Given the description of an element on the screen output the (x, y) to click on. 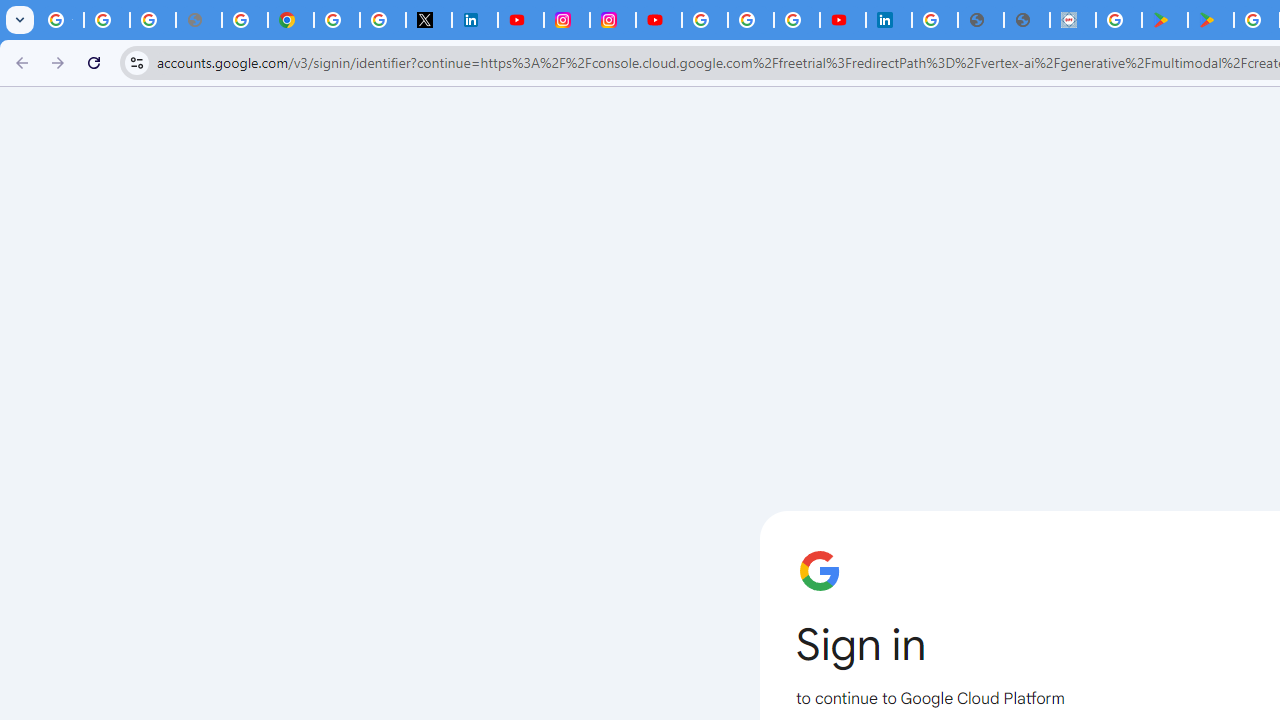
support.google.com - Network error (198, 20)
X (428, 20)
LinkedIn Privacy Policy (474, 20)
Sign in - Google Accounts (705, 20)
Privacy Help Center - Policies Help (244, 20)
Data Privacy Framework (1072, 20)
